Given the description of an element on the screen output the (x, y) to click on. 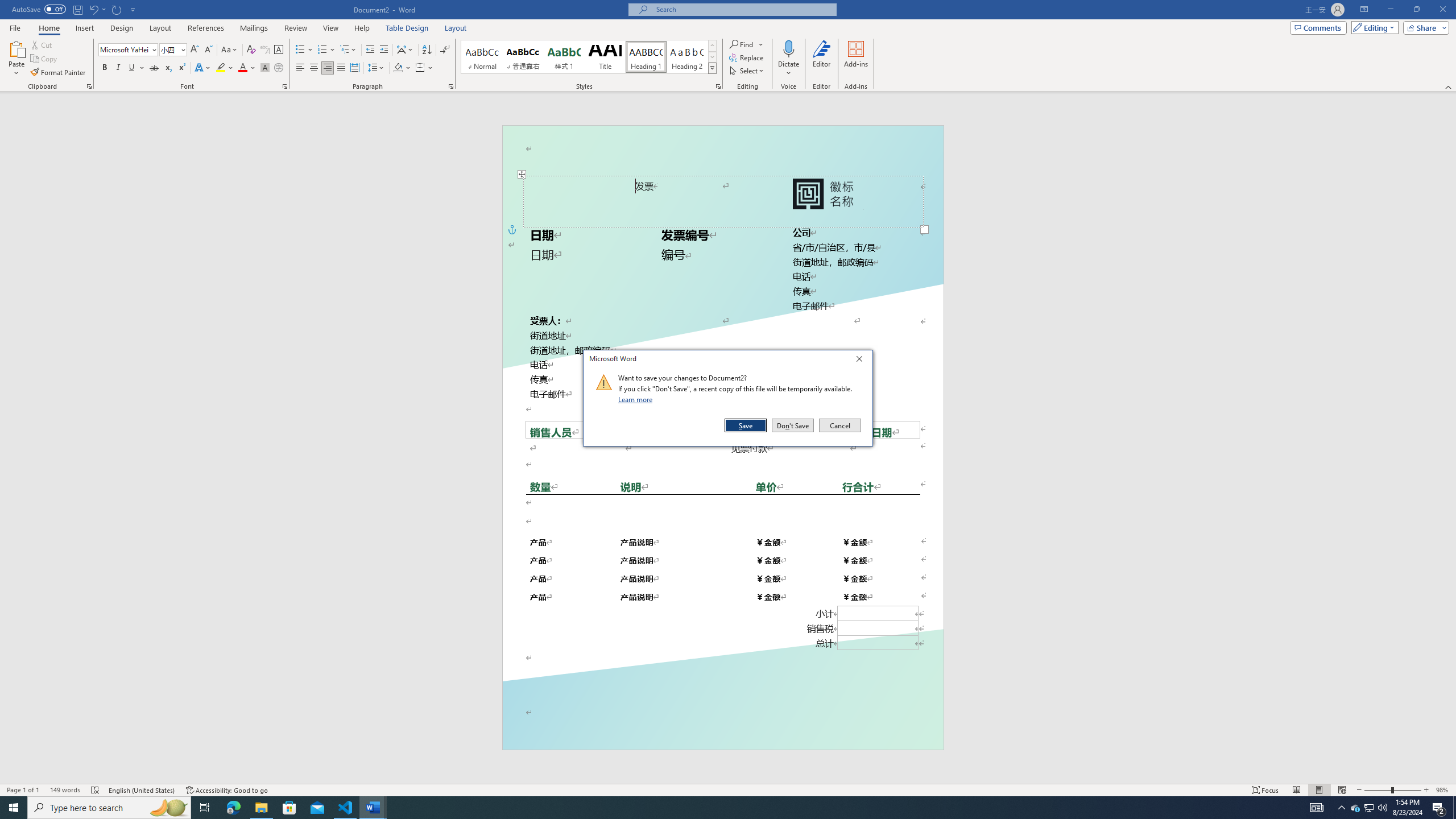
Microsoft Edge (233, 807)
